Given the description of an element on the screen output the (x, y) to click on. 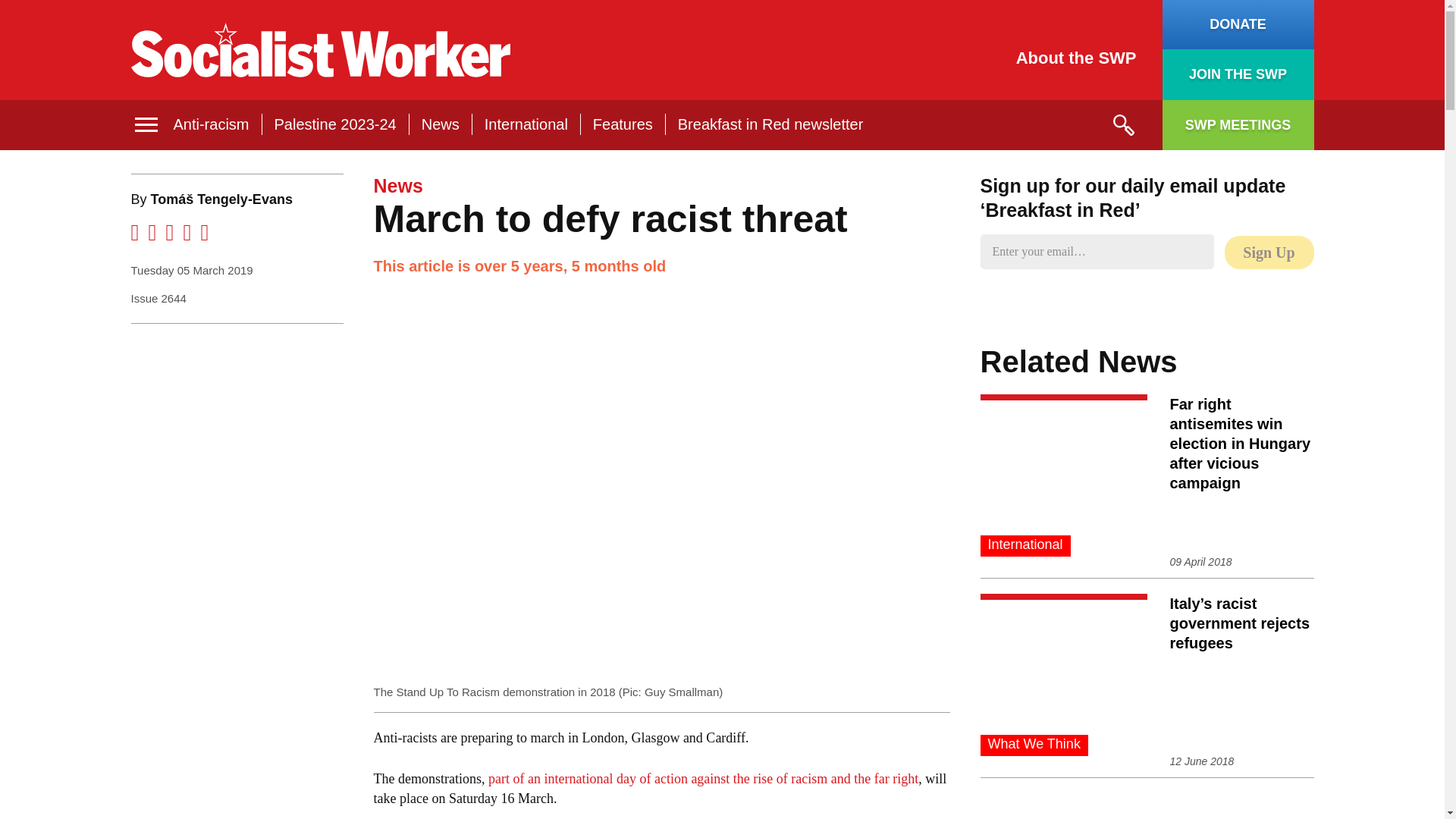
DONATE (1237, 24)
Features (622, 124)
JOIN THE SWP (1237, 74)
Submit (1123, 124)
Breakfast in Red newsletter (770, 124)
Search Button (1123, 124)
International (525, 124)
Anti-racism (210, 124)
About the SWP (1076, 57)
About the SWP (1076, 57)
